Given the description of an element on the screen output the (x, y) to click on. 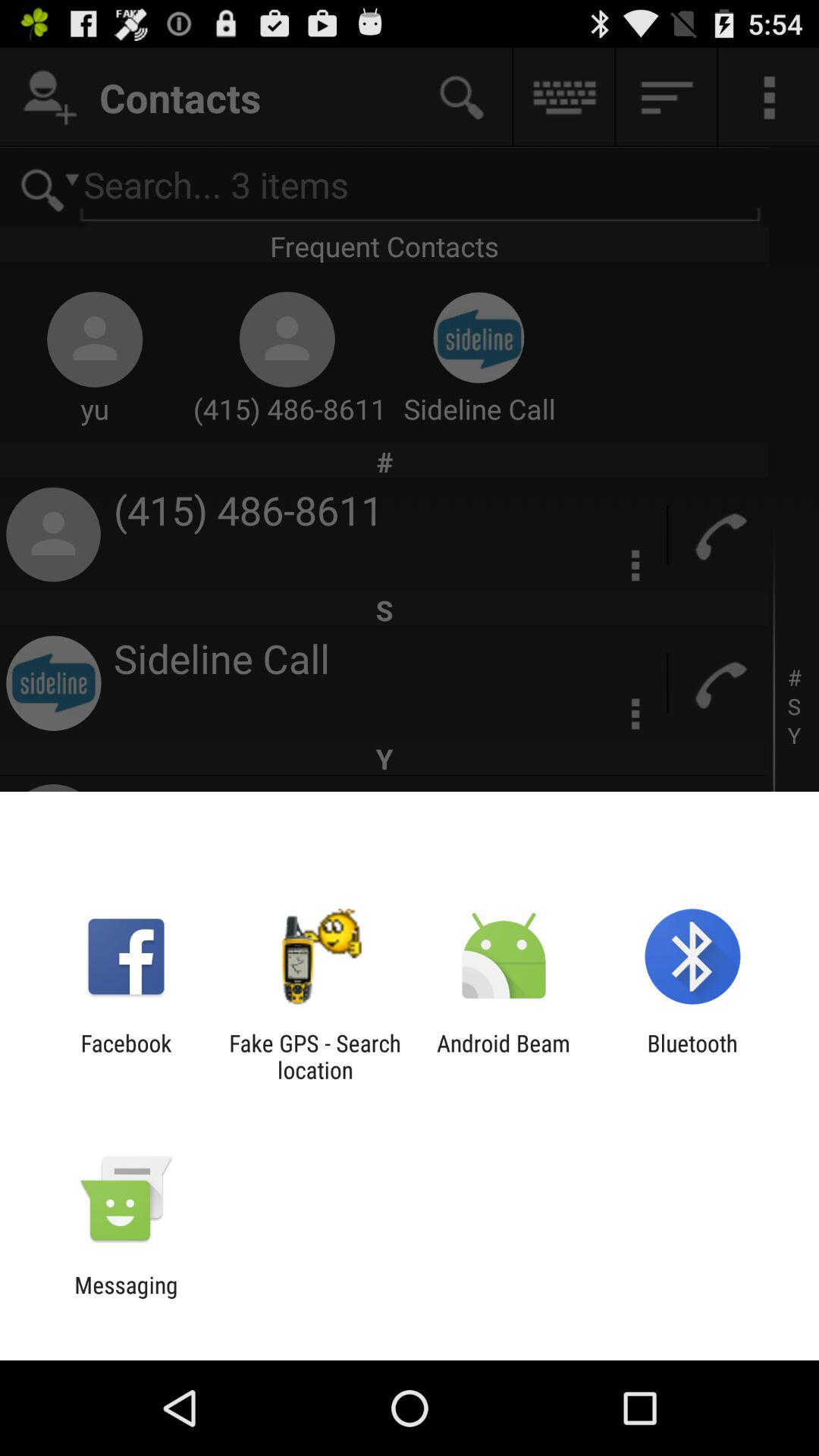
choose the messaging icon (126, 1298)
